Given the description of an element on the screen output the (x, y) to click on. 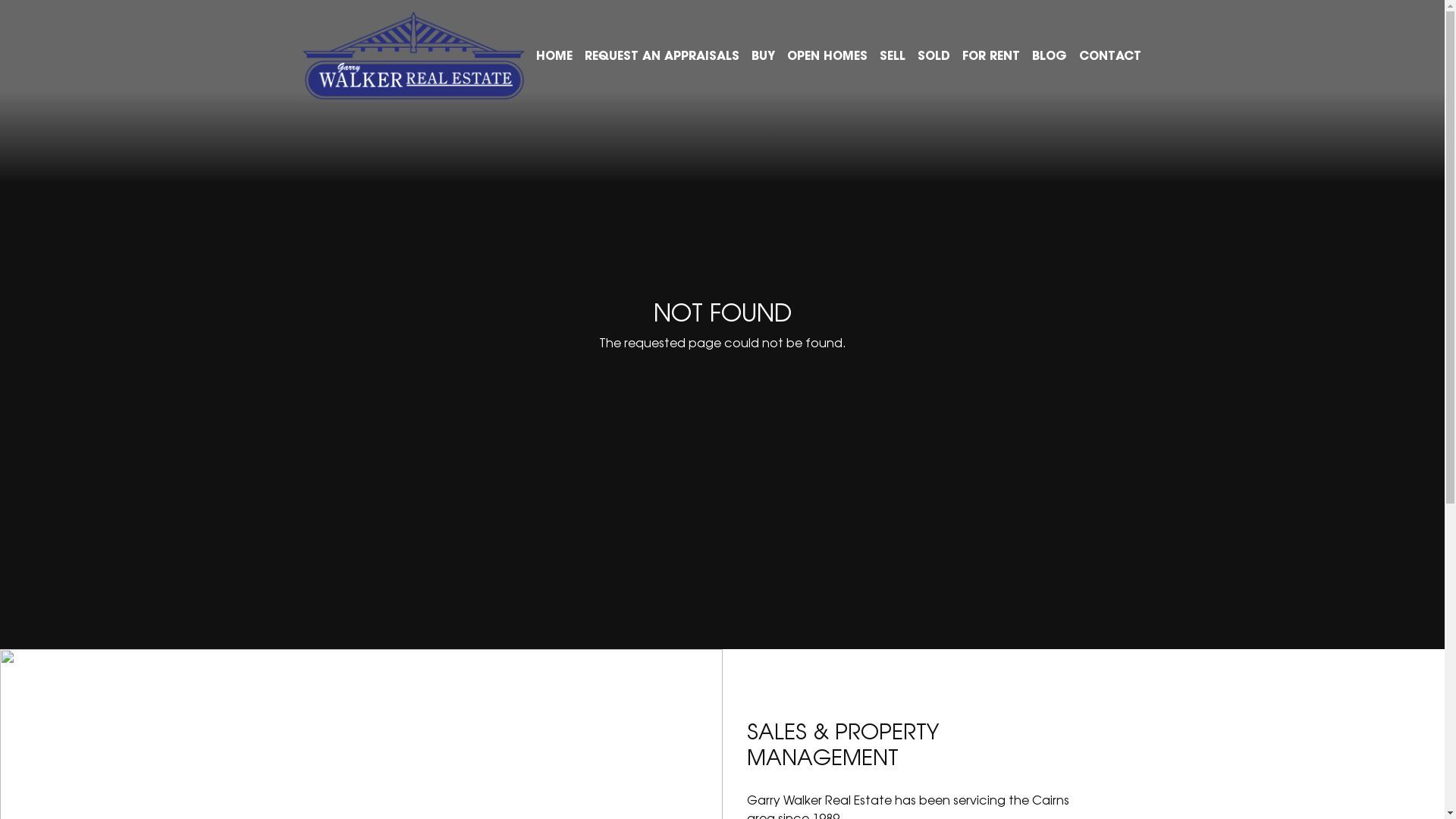
CONTACT Element type: text (1109, 55)
SOLD Element type: text (933, 55)
SELL Element type: text (892, 55)
FOR RENT Element type: text (990, 55)
HOME Element type: text (553, 55)
REQUEST AN APPRAISALS Element type: text (660, 55)
OPEN HOMES Element type: text (827, 55)
BUY Element type: text (762, 55)
BLOG Element type: text (1048, 55)
